Given the description of an element on the screen output the (x, y) to click on. 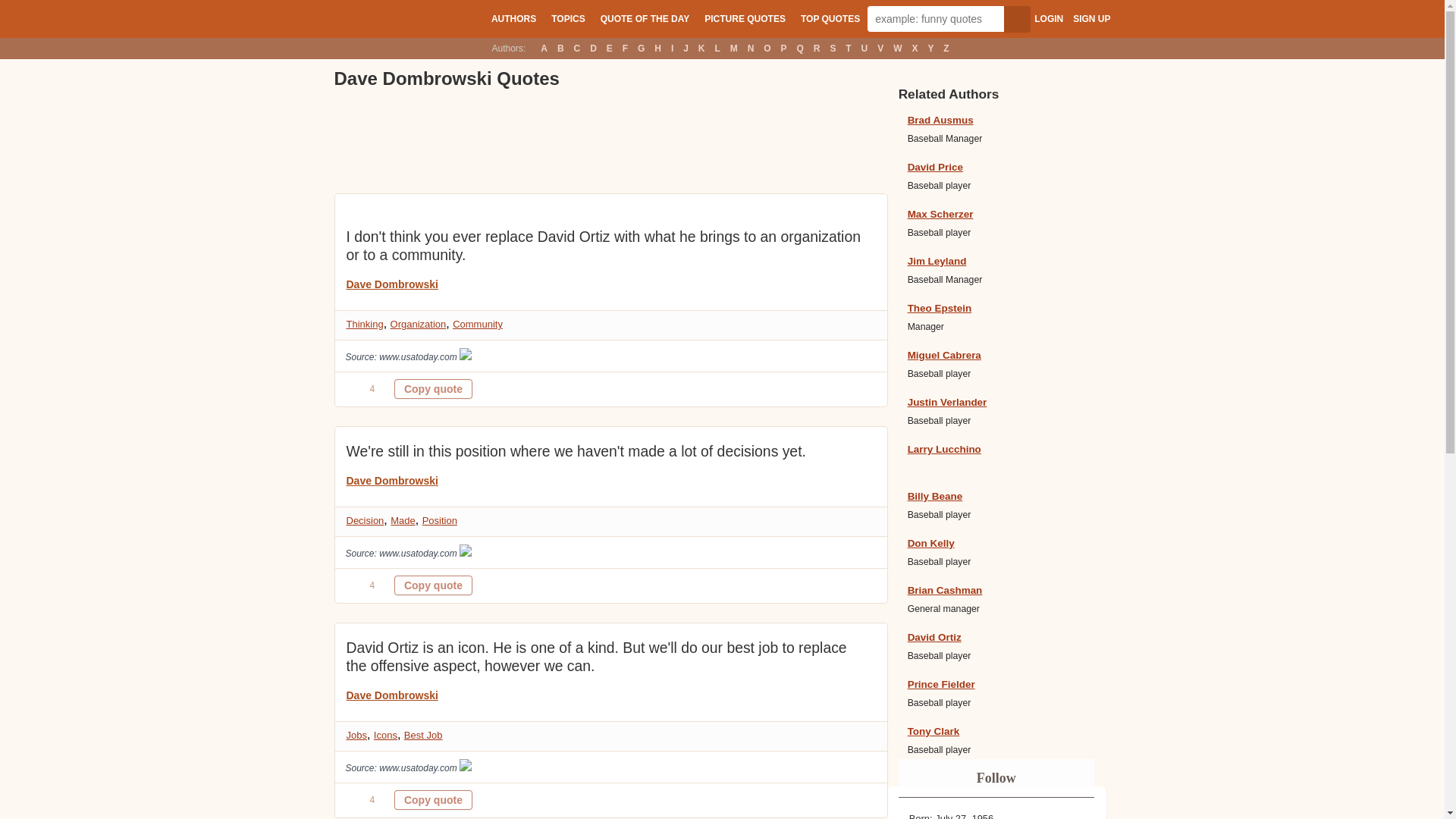
U (863, 47)
B (560, 47)
S (833, 47)
Quote is copied (432, 799)
D (592, 47)
E (608, 47)
I (671, 47)
K (700, 47)
SIGN UP (1091, 18)
Quote is copied (432, 585)
PICTURE QUOTES (745, 18)
AUTHORS (513, 18)
L (717, 47)
Z (946, 47)
N (750, 47)
